Given the description of an element on the screen output the (x, y) to click on. 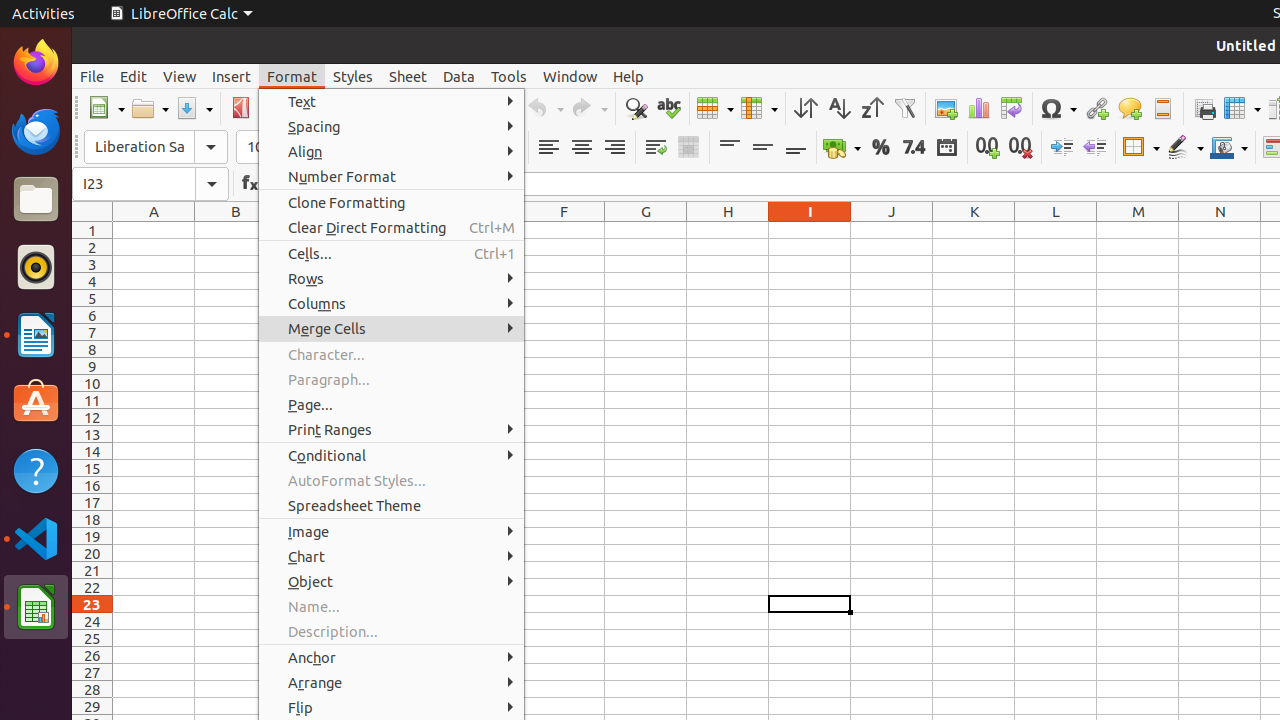
File Element type: menu (92, 76)
Font Name Element type: combo-box (156, 147)
